Given the description of an element on the screen output the (x, y) to click on. 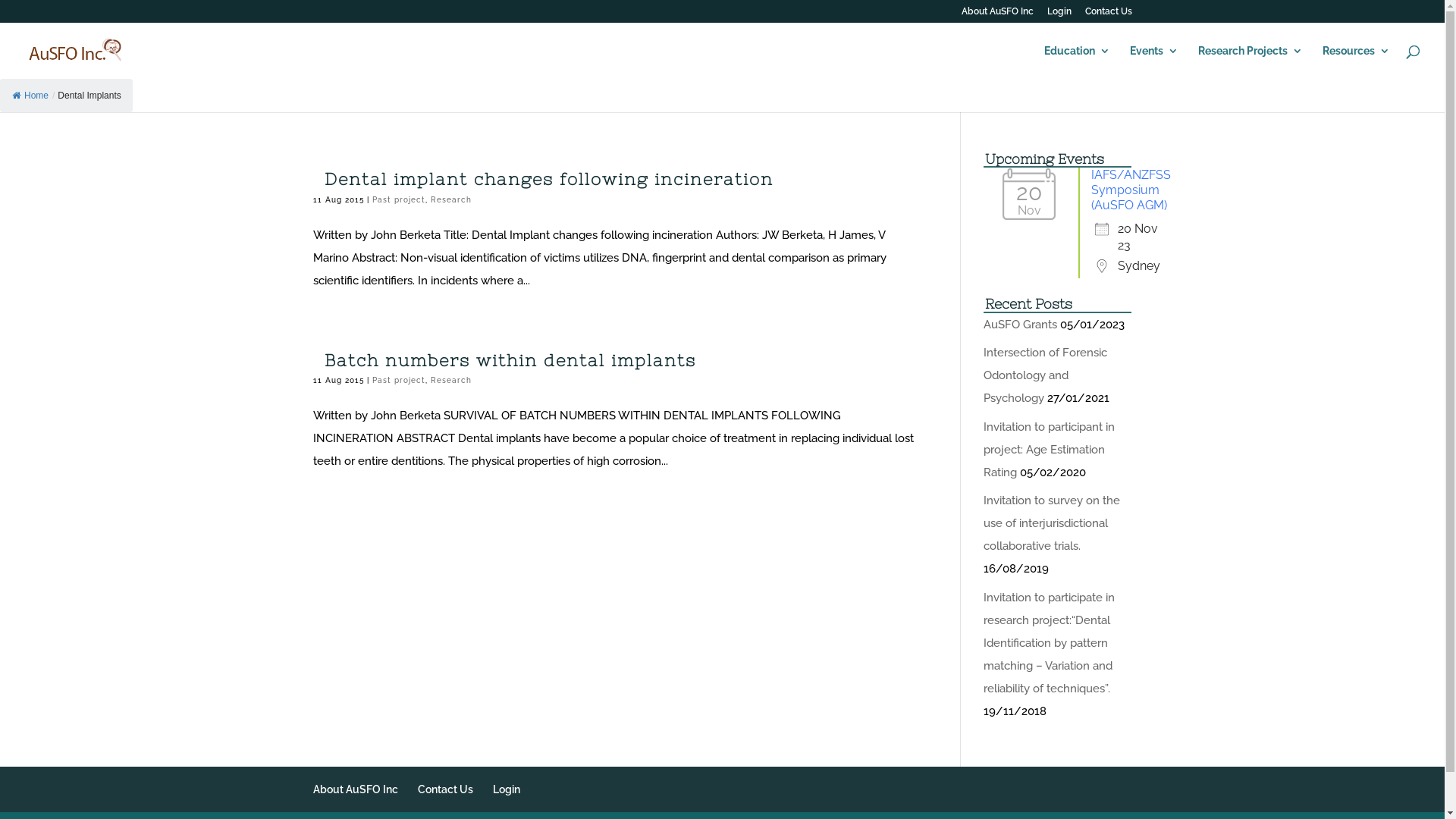
Dental implant changes following incineration Element type: text (548, 178)
Home Element type: text (30, 95)
Research Projects Element type: text (1250, 61)
Past project Element type: text (397, 199)
IAFS/ANZFSS Symposium (AuSFO AGM) Element type: text (1130, 189)
Login Element type: text (1058, 14)
Past project Element type: text (397, 380)
Resources Element type: text (1356, 61)
Contact Us Element type: text (1107, 14)
Contact Us Element type: text (444, 789)
Research Element type: text (450, 380)
Intersection of Forensic Odontology and Psychology Element type: text (1045, 374)
Batch numbers within dental implants Element type: text (510, 359)
AuSFO Grants Element type: text (1020, 324)
Login Element type: text (506, 789)
Research Element type: text (450, 199)
About AuSFO Inc Element type: text (997, 14)
Education Element type: text (1077, 61)
Events Element type: text (1153, 61)
About AuSFO Inc Element type: text (354, 789)
Invitation to participant in project: Age Estimation Rating Element type: text (1048, 449)
